Given the description of an element on the screen output the (x, y) to click on. 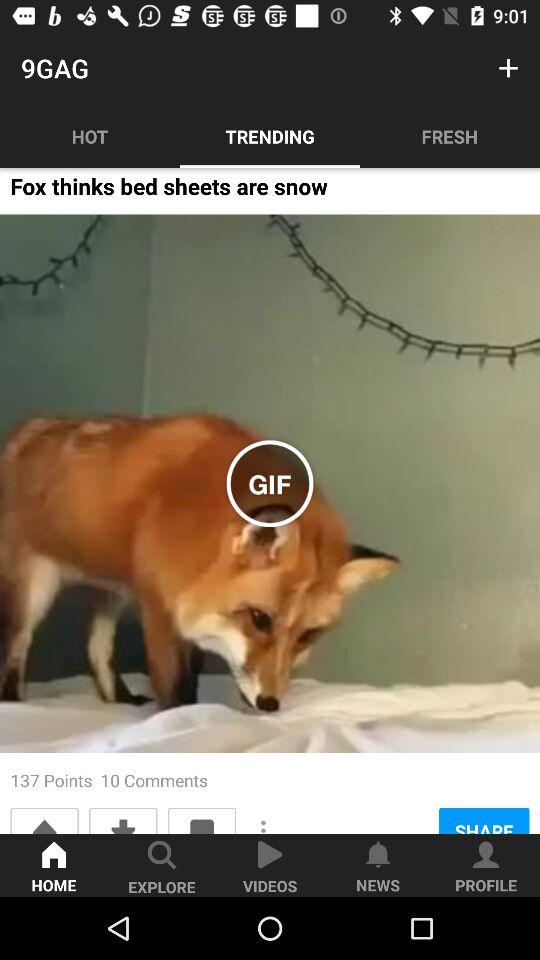
open the icon below the fox thinks bed item (270, 483)
